Given the description of an element on the screen output the (x, y) to click on. 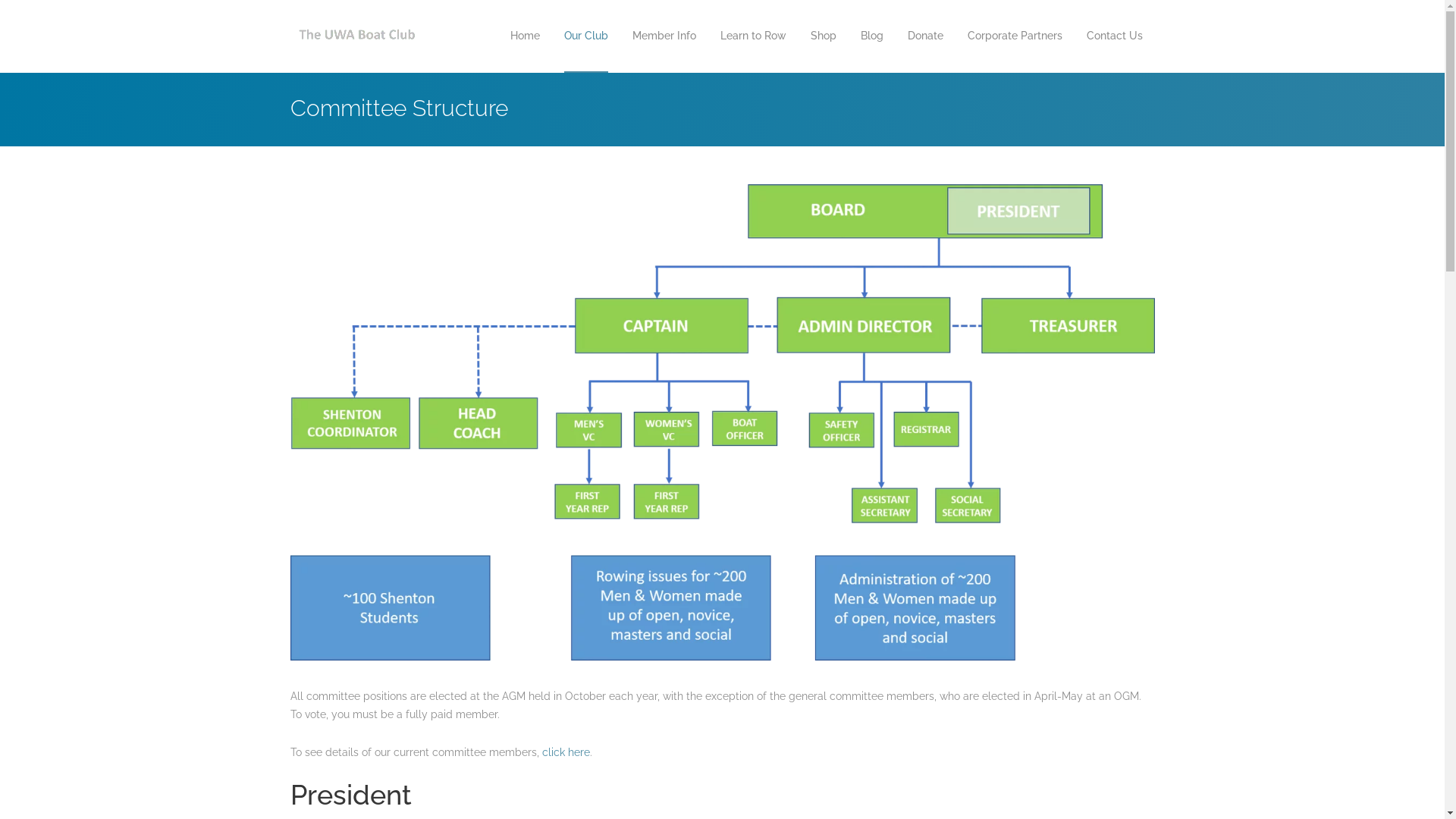
Member Info Element type: text (664, 36)
Home Element type: text (524, 36)
click here Element type: text (565, 752)
Blog Element type: text (870, 36)
Corporate Partners Element type: text (1014, 36)
Shop Element type: text (822, 36)
Committee Structure Element type: hover (721, 422)
Donate Element type: text (924, 36)
Contact Us Element type: text (1113, 36)
Learn to Row Element type: text (753, 36)
Our Club Element type: text (586, 36)
